Given the description of an element on the screen output the (x, y) to click on. 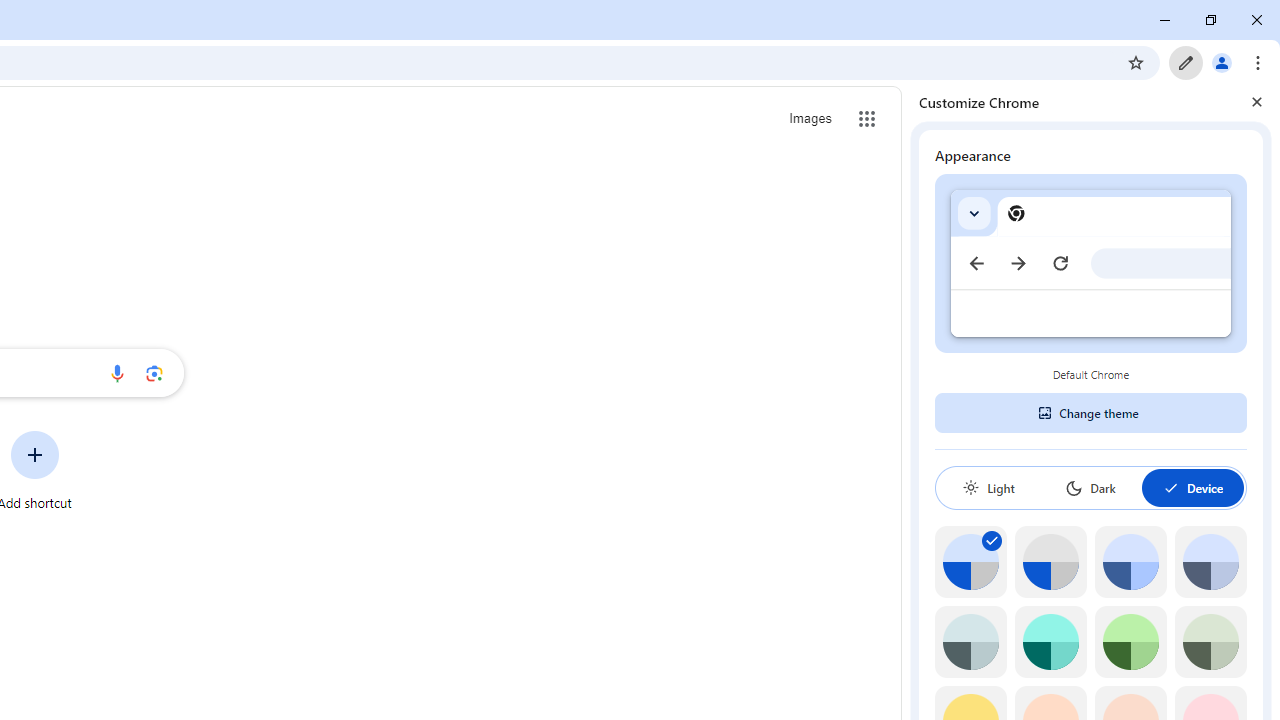
Grey (970, 642)
Dark (1090, 487)
Cool grey (1210, 562)
AutomationID: svg (991, 540)
Device (1192, 487)
Viridian (1210, 642)
